Given the description of an element on the screen output the (x, y) to click on. 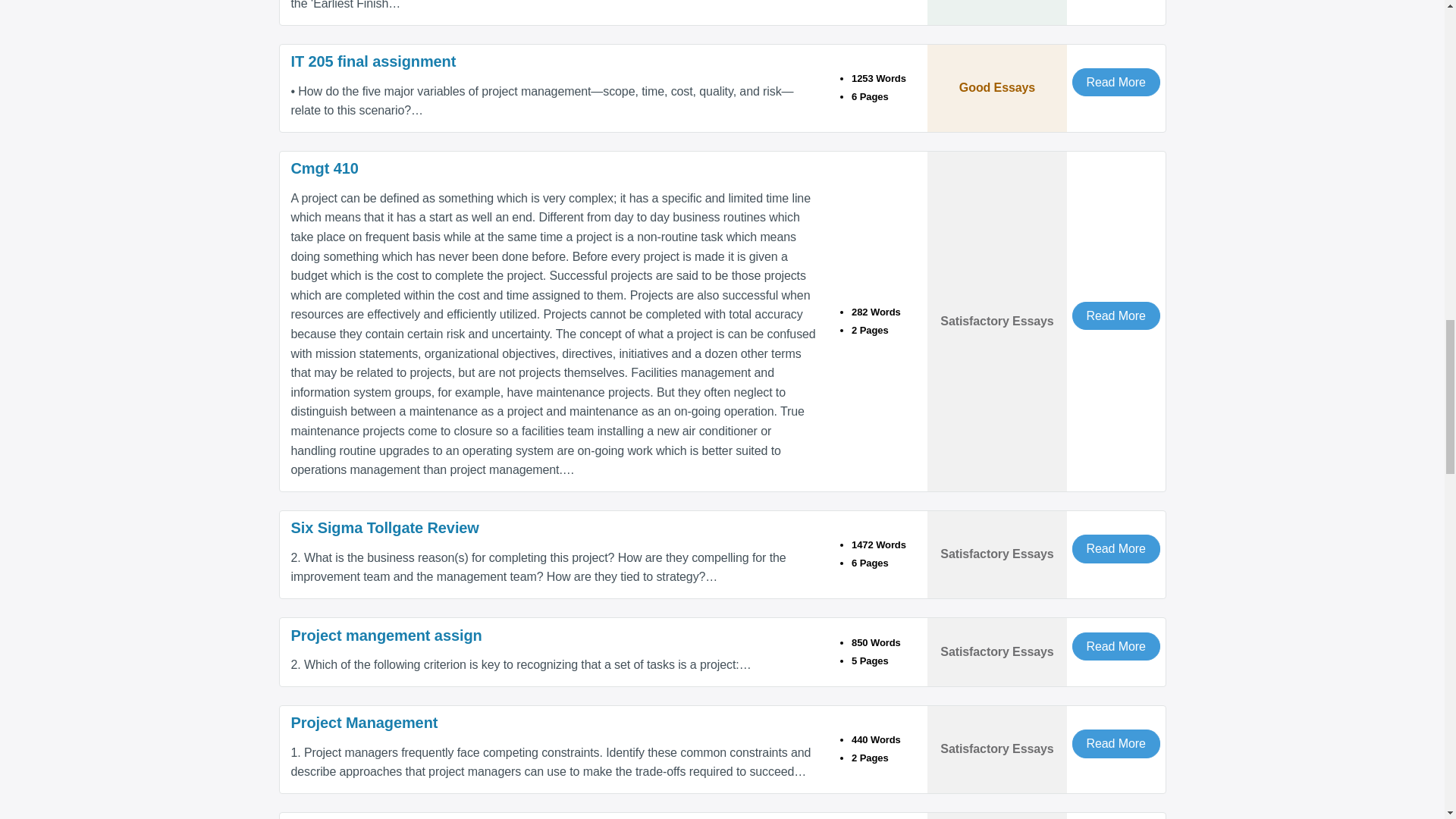
IT 205 final assignment (553, 61)
Read More (1115, 81)
Cmgt 410 (553, 168)
